Given the description of an element on the screen output the (x, y) to click on. 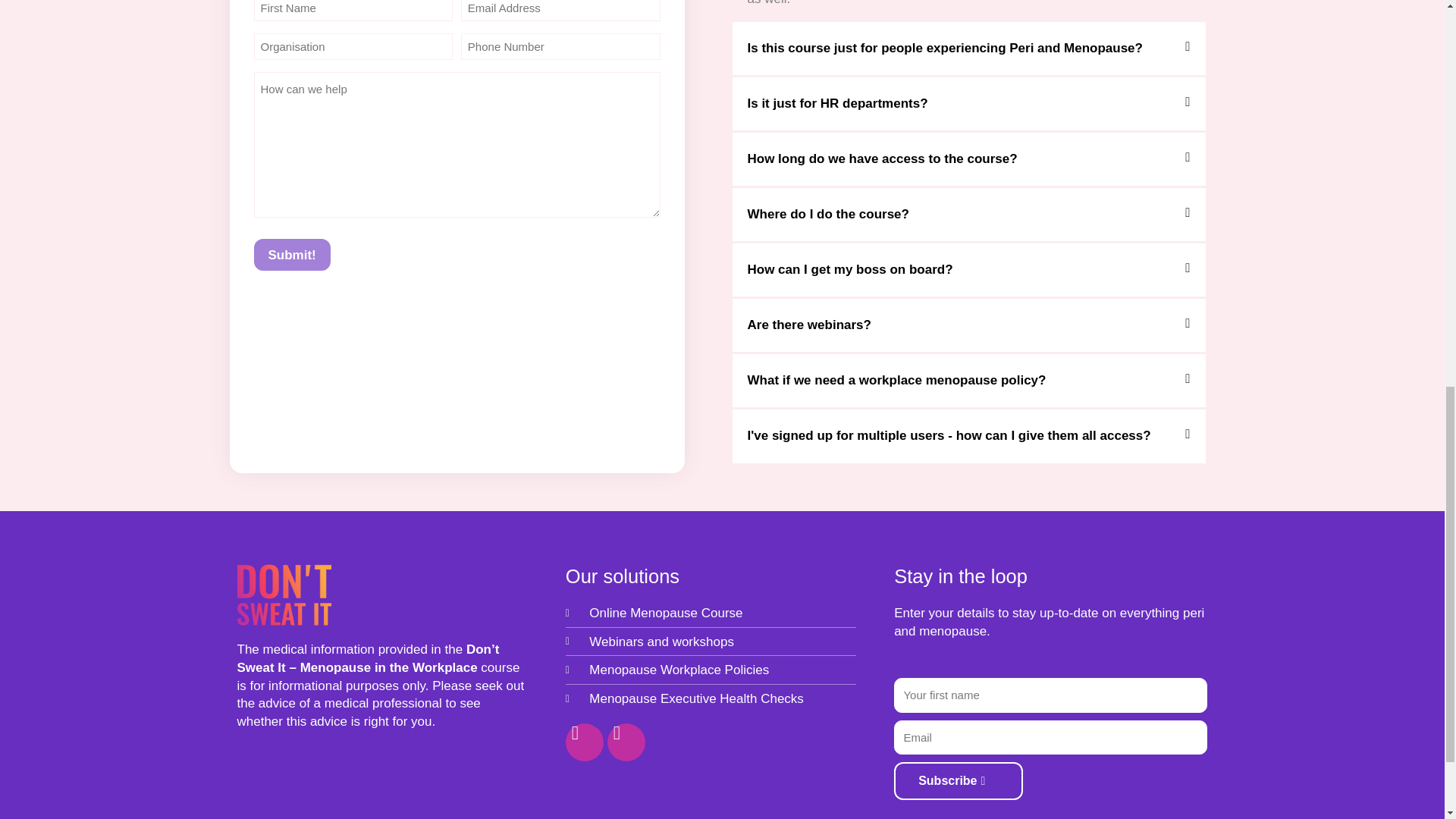
Submit! (291, 255)
